Given the description of an element on the screen output the (x, y) to click on. 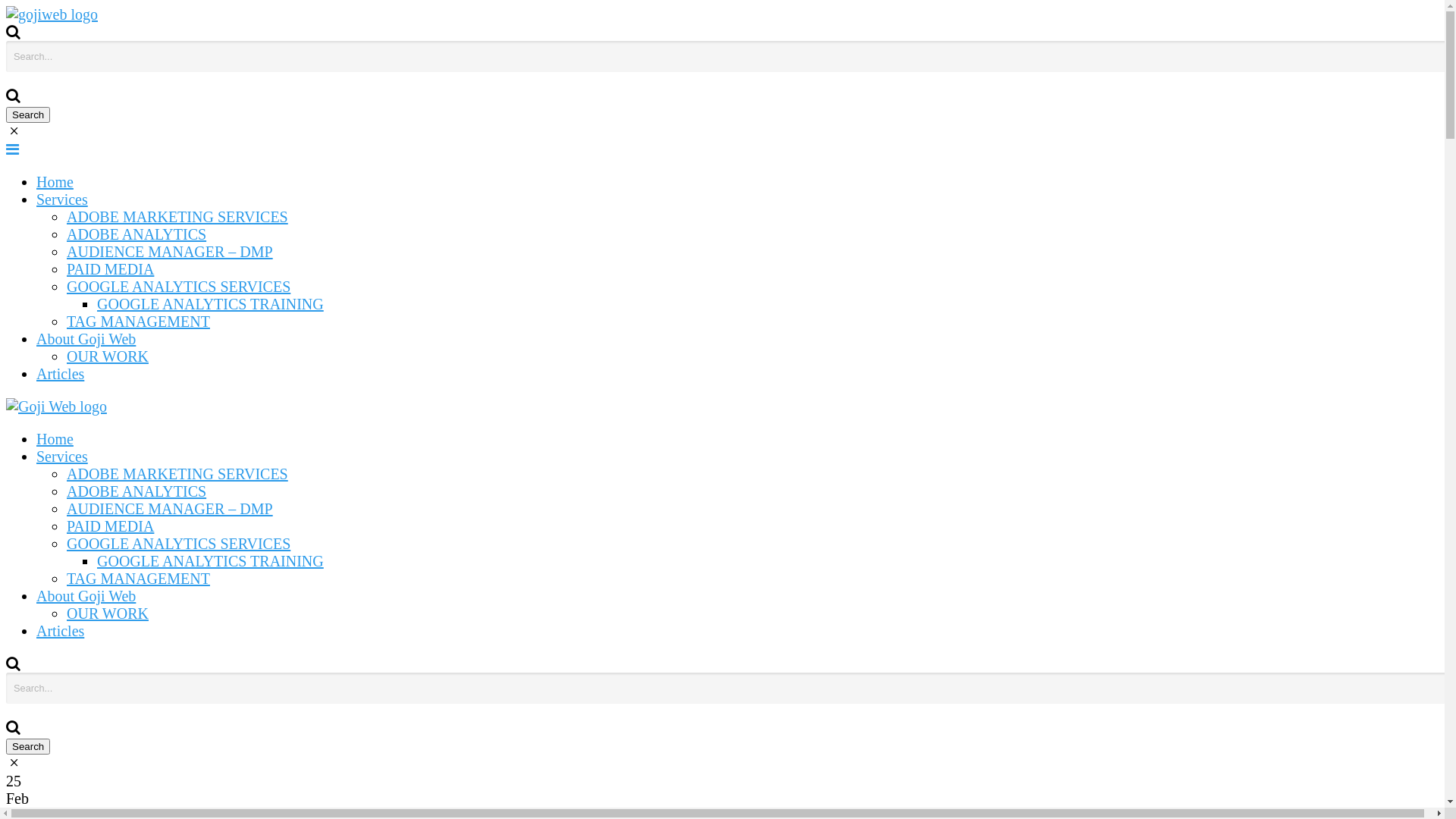
ADOBE MARKETING SERVICES Element type: text (177, 473)
PAID MEDIA Element type: text (109, 525)
Home Element type: text (54, 181)
OUR WORK Element type: text (107, 613)
About Goji Web Element type: text (85, 595)
TAG MANAGEMENT Element type: text (138, 578)
Home Element type: text (54, 438)
Articles Element type: text (60, 630)
Search Element type: text (28, 746)
TAG MANAGEMENT Element type: text (138, 321)
PAID MEDIA Element type: text (109, 268)
Services Element type: text (61, 456)
ADOBE ANALYTICS Element type: text (136, 233)
GOOGLE ANALYTICS TRAINING Element type: text (210, 560)
Search Element type: text (28, 114)
About Goji Web Element type: text (85, 338)
GOOGLE ANALYTICS SERVICES Element type: text (178, 543)
GOOGLE ANALYTICS SERVICES Element type: text (178, 286)
ADOBE MARKETING SERVICES Element type: text (177, 216)
OUR WORK Element type: text (107, 356)
ADOBE ANALYTICS Element type: text (136, 491)
GOOGLE ANALYTICS TRAINING Element type: text (210, 303)
Articles Element type: text (60, 373)
Services Element type: text (61, 199)
